Given the description of an element on the screen output the (x, y) to click on. 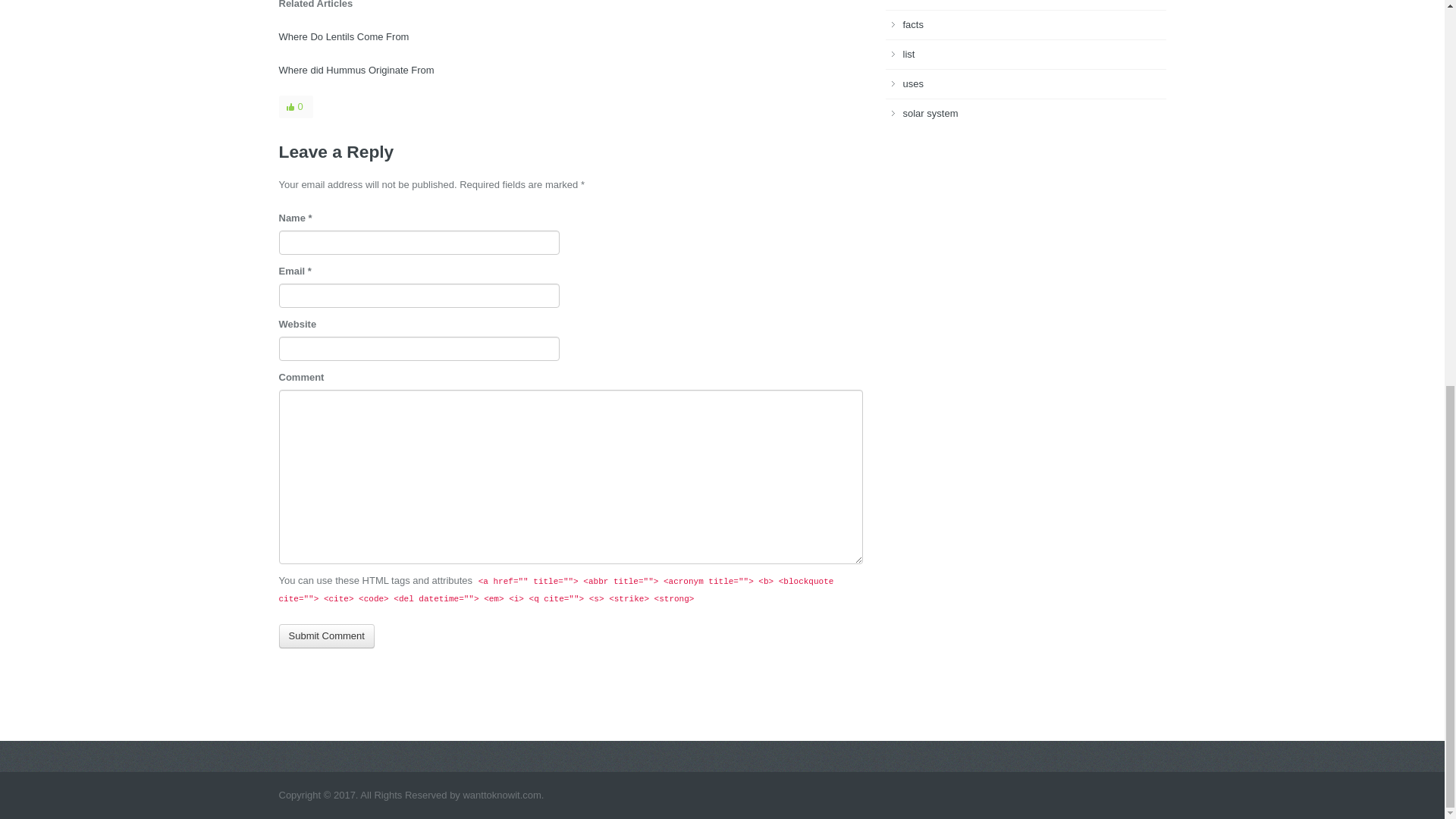
Submit Comment (326, 636)
Where did Hummus Originate From (356, 70)
Submit Comment (326, 636)
uses (912, 83)
Where Do Lentils Come From (344, 36)
facts (912, 24)
list (908, 53)
solar system (930, 112)
